Given the description of an element on the screen output the (x, y) to click on. 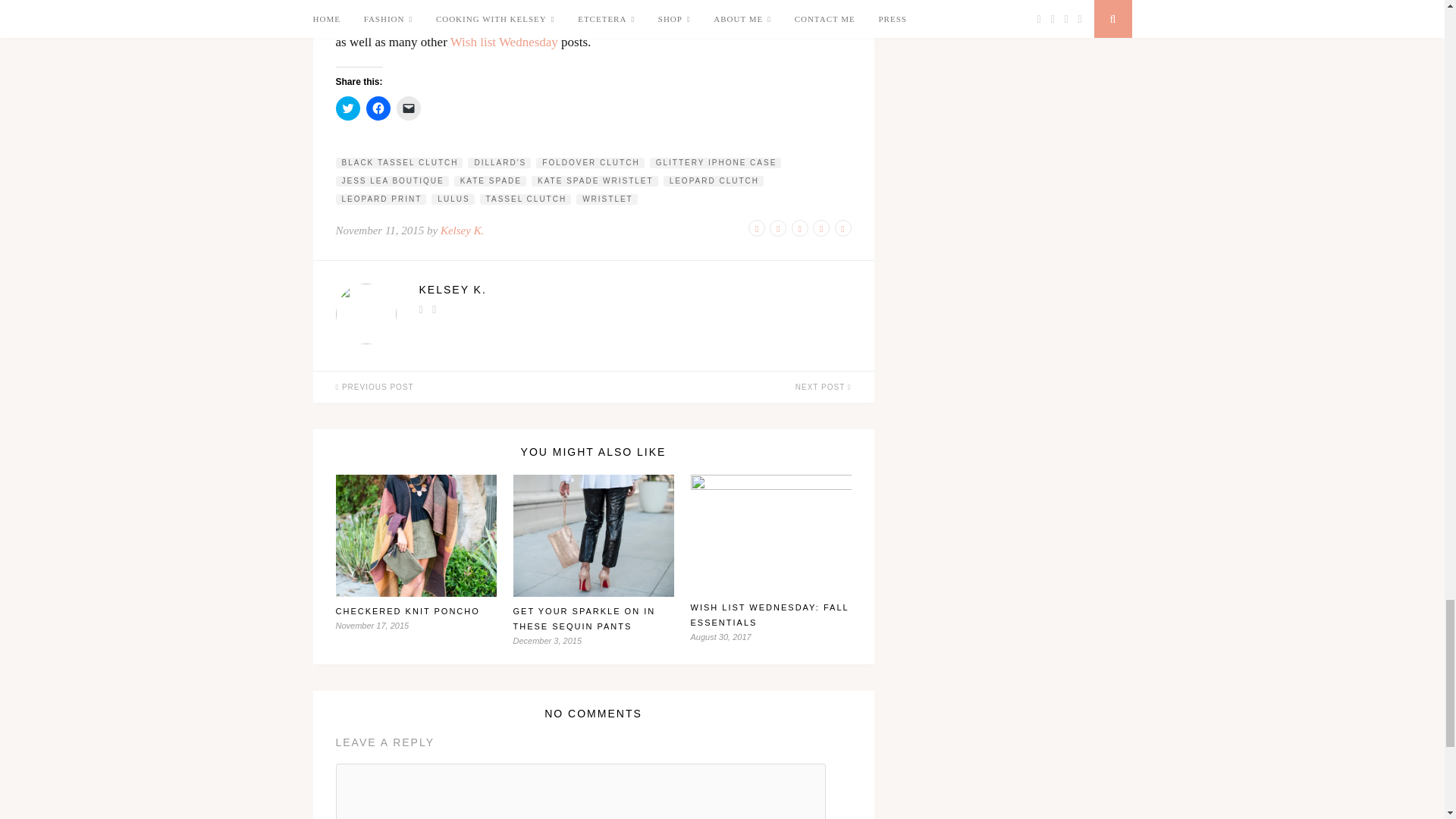
Click to share on Twitter (346, 108)
Posts by Kelsey K. (634, 289)
Posts by Kelsey K. (462, 230)
Click to email a link to a friend (408, 108)
Click to share on Facebook (377, 108)
